Given the description of an element on the screen output the (x, y) to click on. 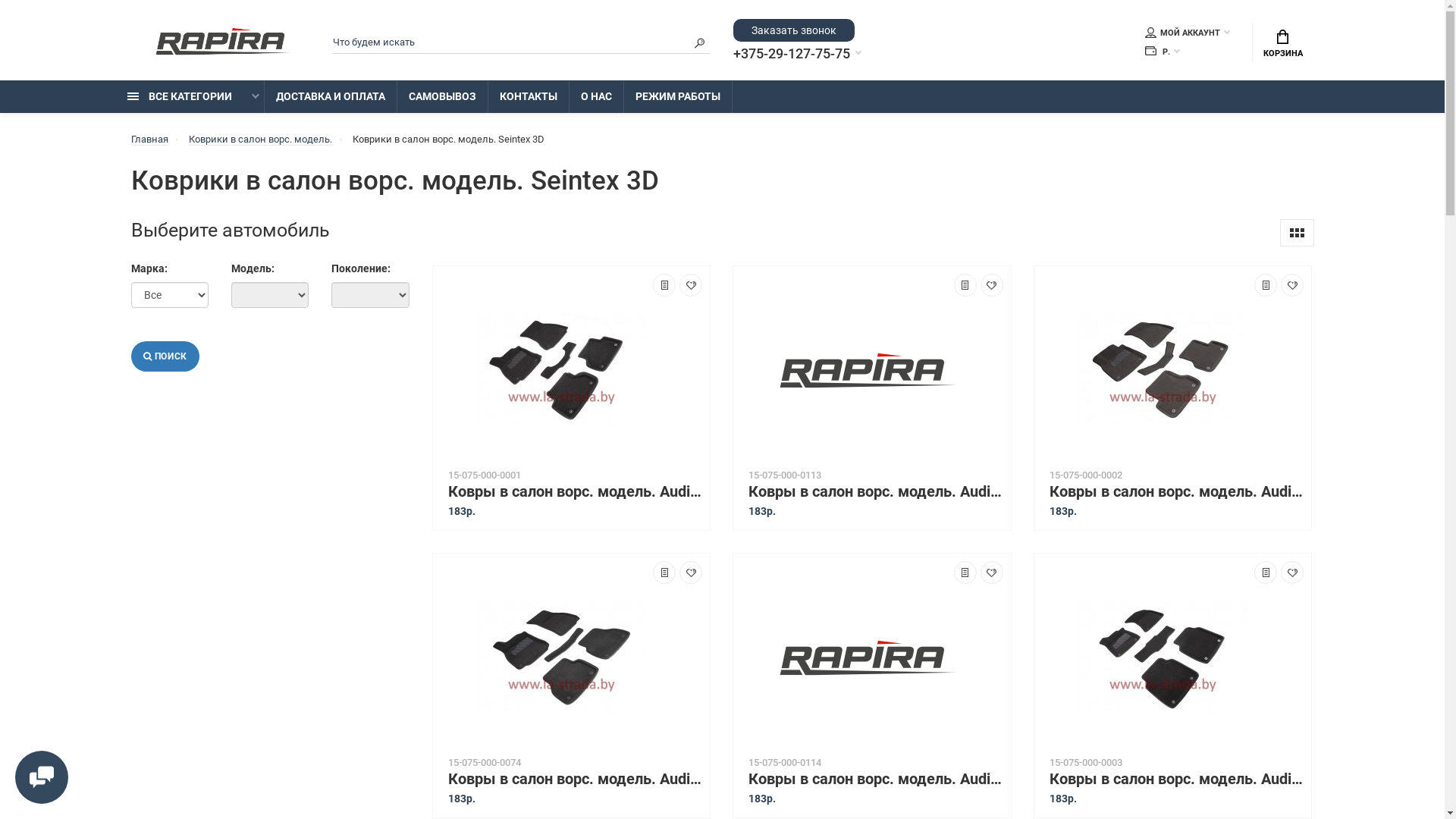
+375-29-127-75-75 Element type: text (797, 53)
